Given the description of an element on the screen output the (x, y) to click on. 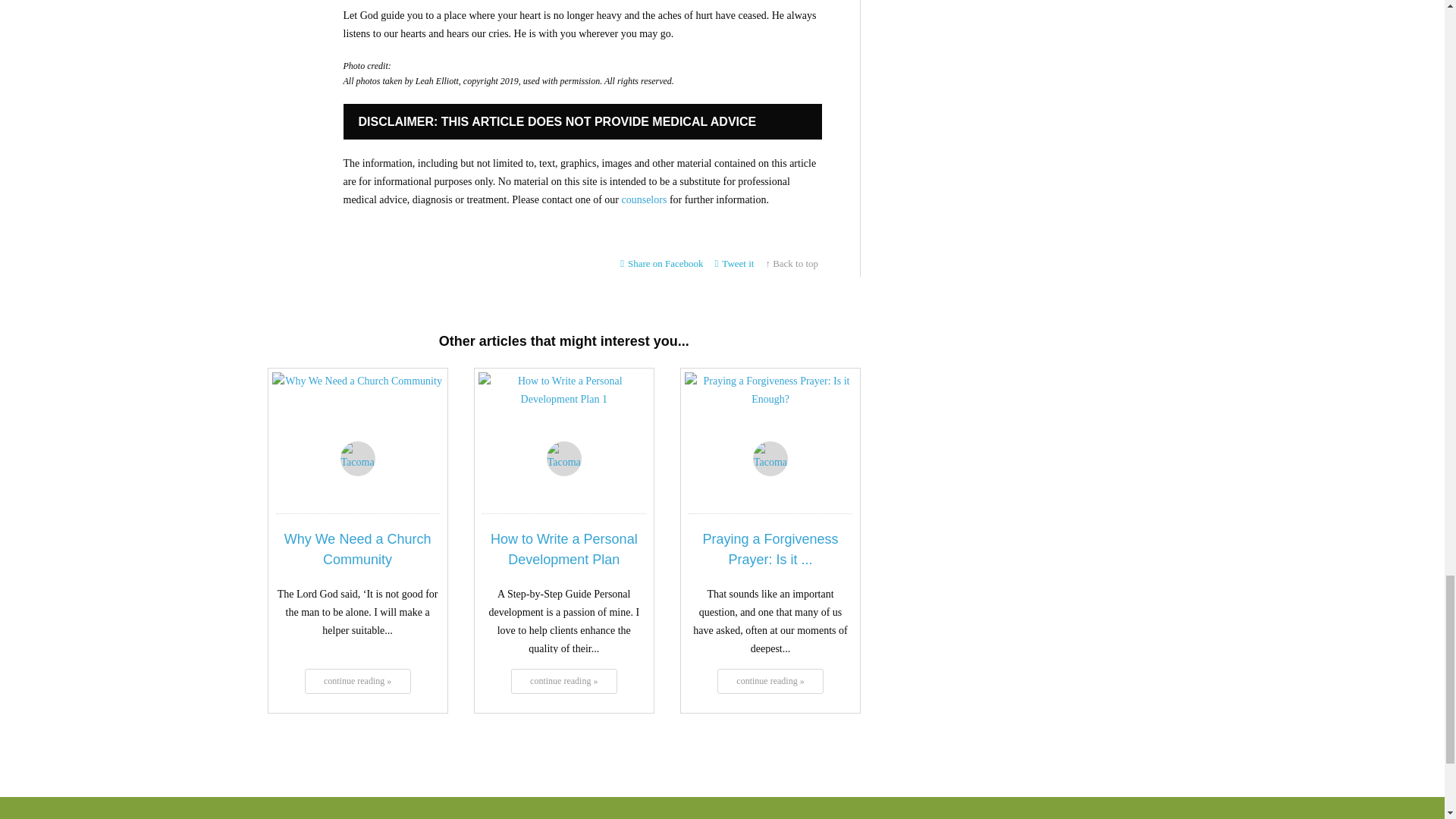
How to Write a Personal Development Plan (563, 549)
Share on Facebook (660, 263)
Why We Need a Church Community (357, 680)
Go back to top (791, 263)
How to Write a Personal Development Plan (564, 415)
How to Write a Personal Development Plan (564, 680)
Praying a Forgiveness Prayer: Is it Enough? (770, 415)
Praying a Forgiveness Prayer: Is it Enough? (769, 549)
Tweet it (734, 263)
Praying a Forgiveness Prayer: Is it Enough? (770, 680)
